Given the description of an element on the screen output the (x, y) to click on. 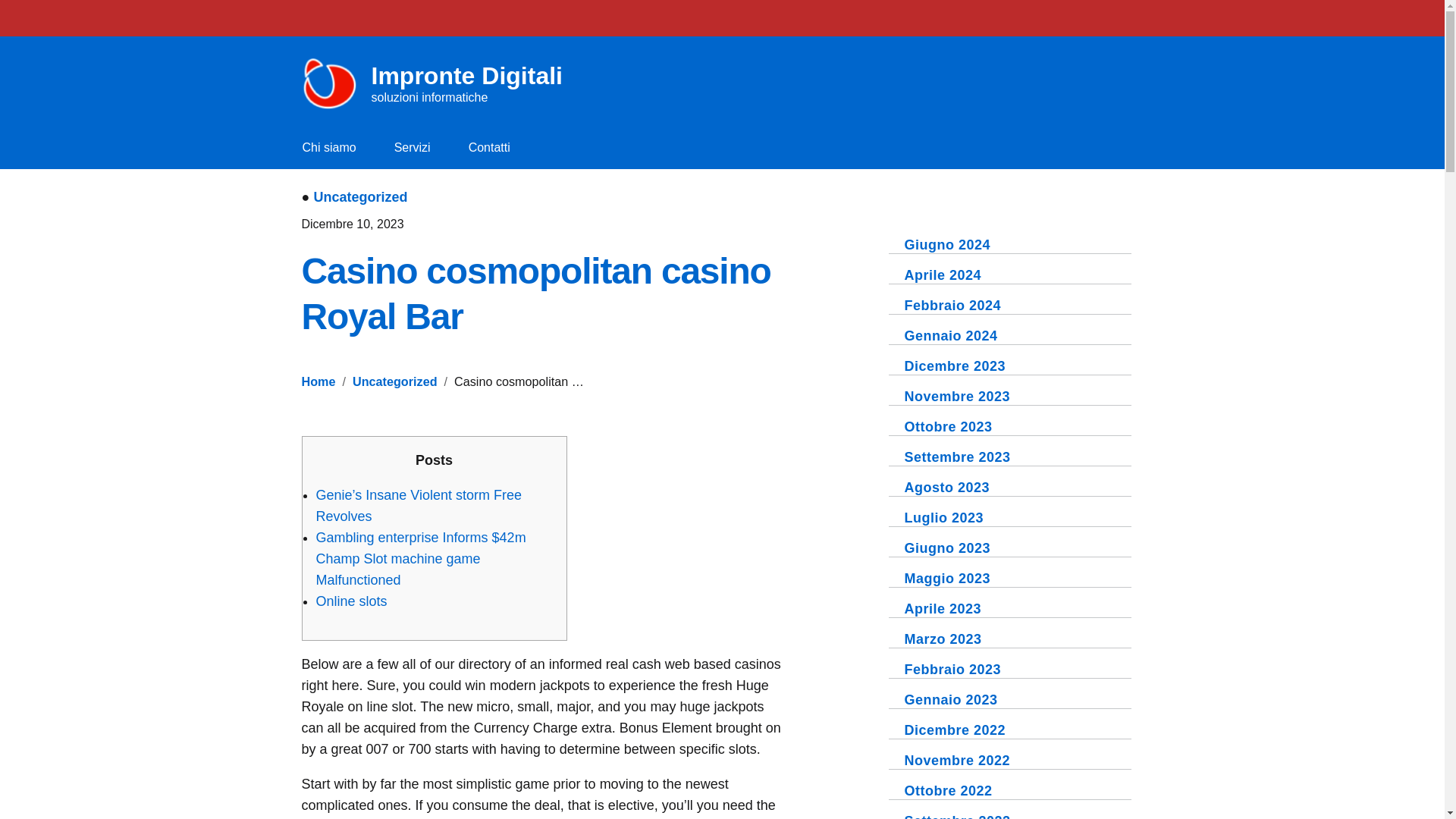
Online slots (351, 601)
Luglio 2023 (944, 517)
Aprile 2024 (942, 274)
Agosto 2023 (438, 84)
Ottobre 2023 (947, 487)
Home (947, 427)
Casino cosmopolitan casino Royal Bar (318, 381)
Settembre 2023 (536, 293)
Giugno 2024 (957, 457)
